Given the description of an element on the screen output the (x, y) to click on. 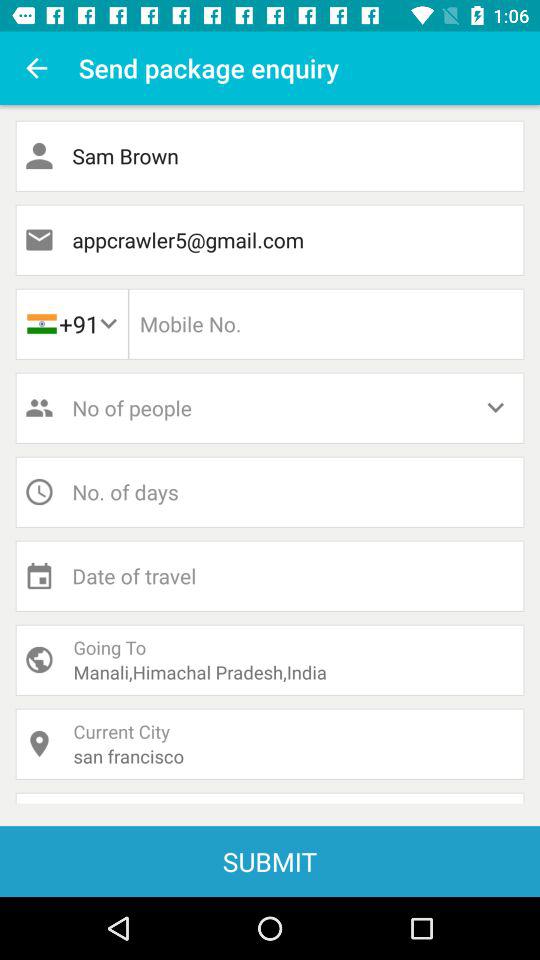
return to the previous page (36, 68)
